Given the description of an element on the screen output the (x, y) to click on. 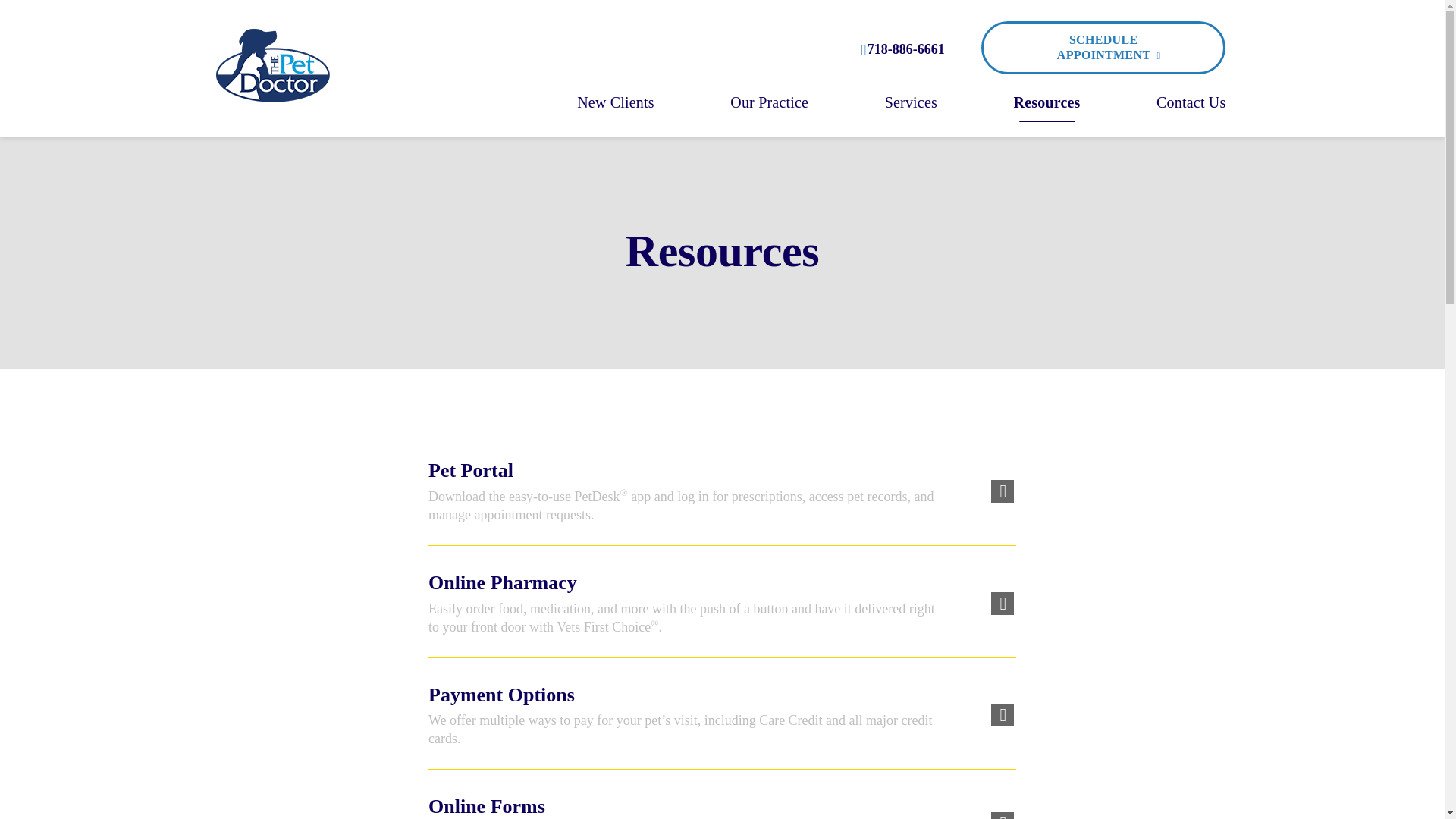
New Clients (614, 105)
Resources (1046, 105)
SCHEDULE APPOINTMENT (1103, 47)
Online Pharmacy (716, 610)
Pet Portal (716, 498)
718-886-6661 (902, 48)
Forms (716, 803)
Our Practice (769, 105)
Payment Options (716, 722)
Contact Us (1190, 105)
